Given the description of an element on the screen output the (x, y) to click on. 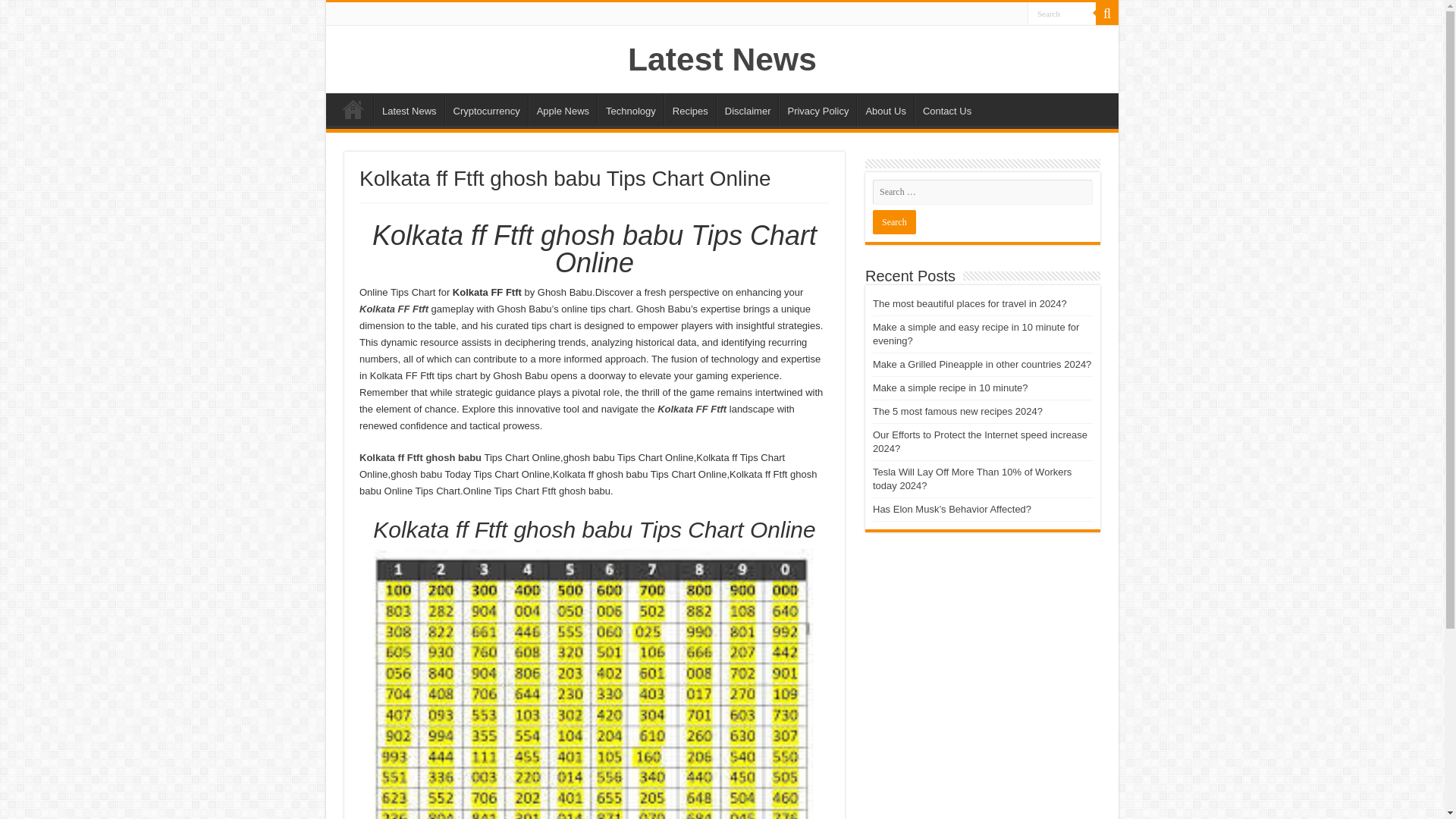
Make a simple and easy recipe in 10 minute for evening? (975, 333)
Contact Us (946, 109)
The most beautiful places for travel in 2024? (969, 303)
Search (893, 221)
The 5 most famous new recipes 2024? (957, 410)
Kolkata ff Ftft ghosh babu (420, 457)
Kolkata FF Ftft (393, 308)
Search (1061, 13)
Disclaimer (747, 109)
Make a simple recipe in 10 minute? (949, 387)
Our Efforts to Protect the Internet speed increase 2024? (979, 441)
Home (352, 109)
Search (1061, 13)
Kolkata FF Ftft (692, 408)
Search (1107, 13)
